Given the description of an element on the screen output the (x, y) to click on. 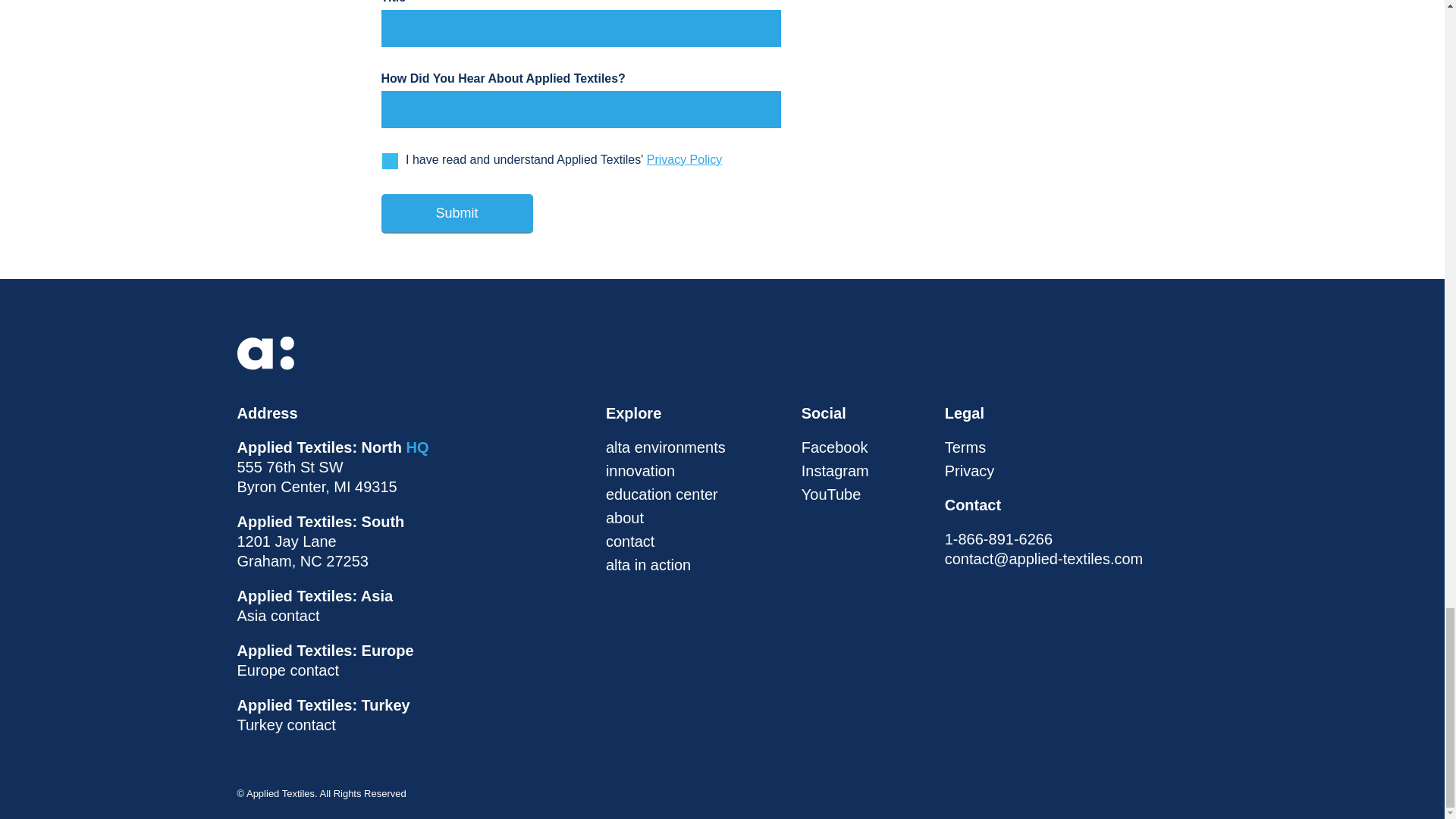
I have read and understand Applied Textiles' Privacy Policy (389, 160)
Submit (456, 213)
